Given the description of an element on the screen output the (x, y) to click on. 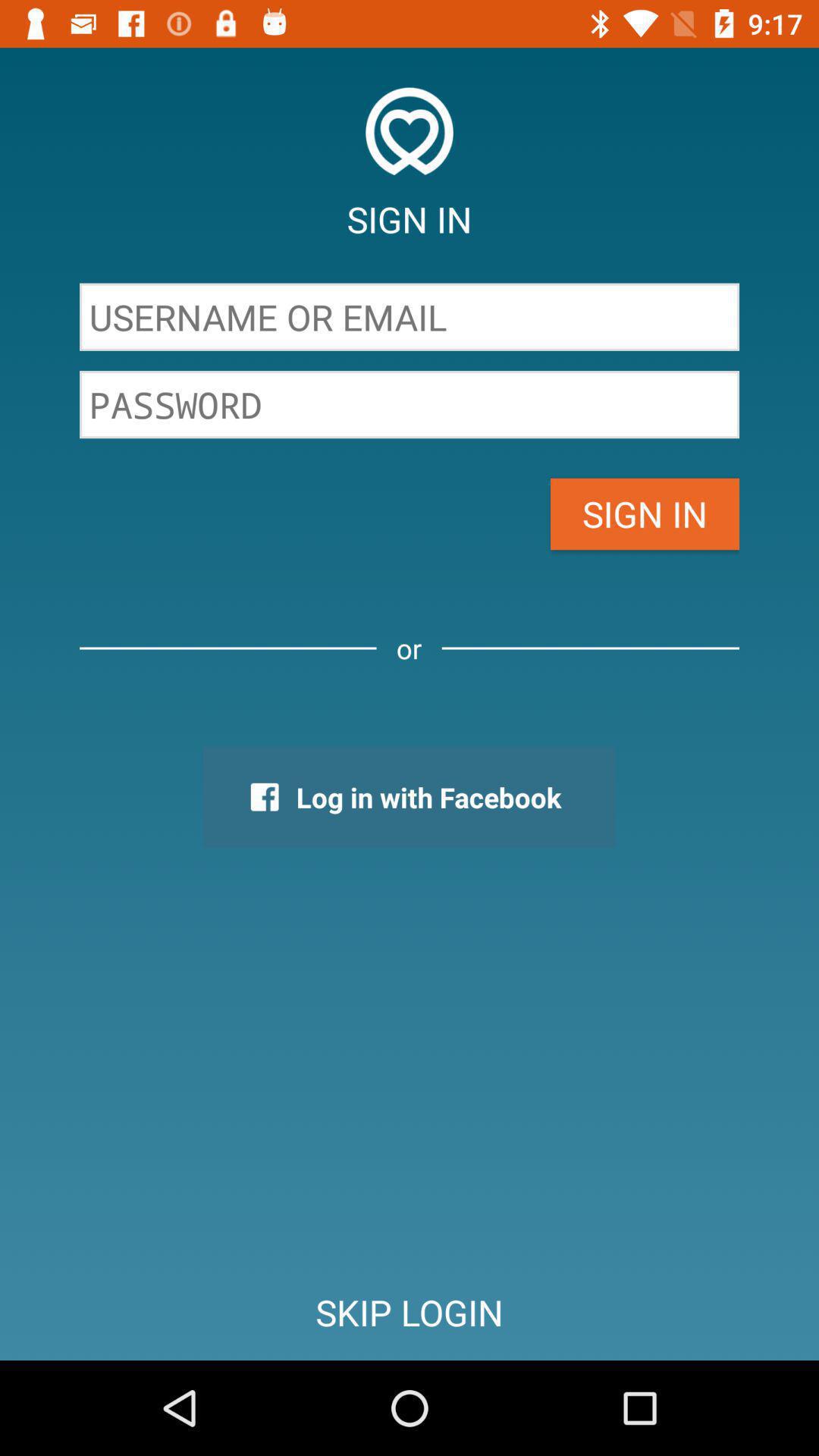
go to email password (409, 404)
